Given the description of an element on the screen output the (x, y) to click on. 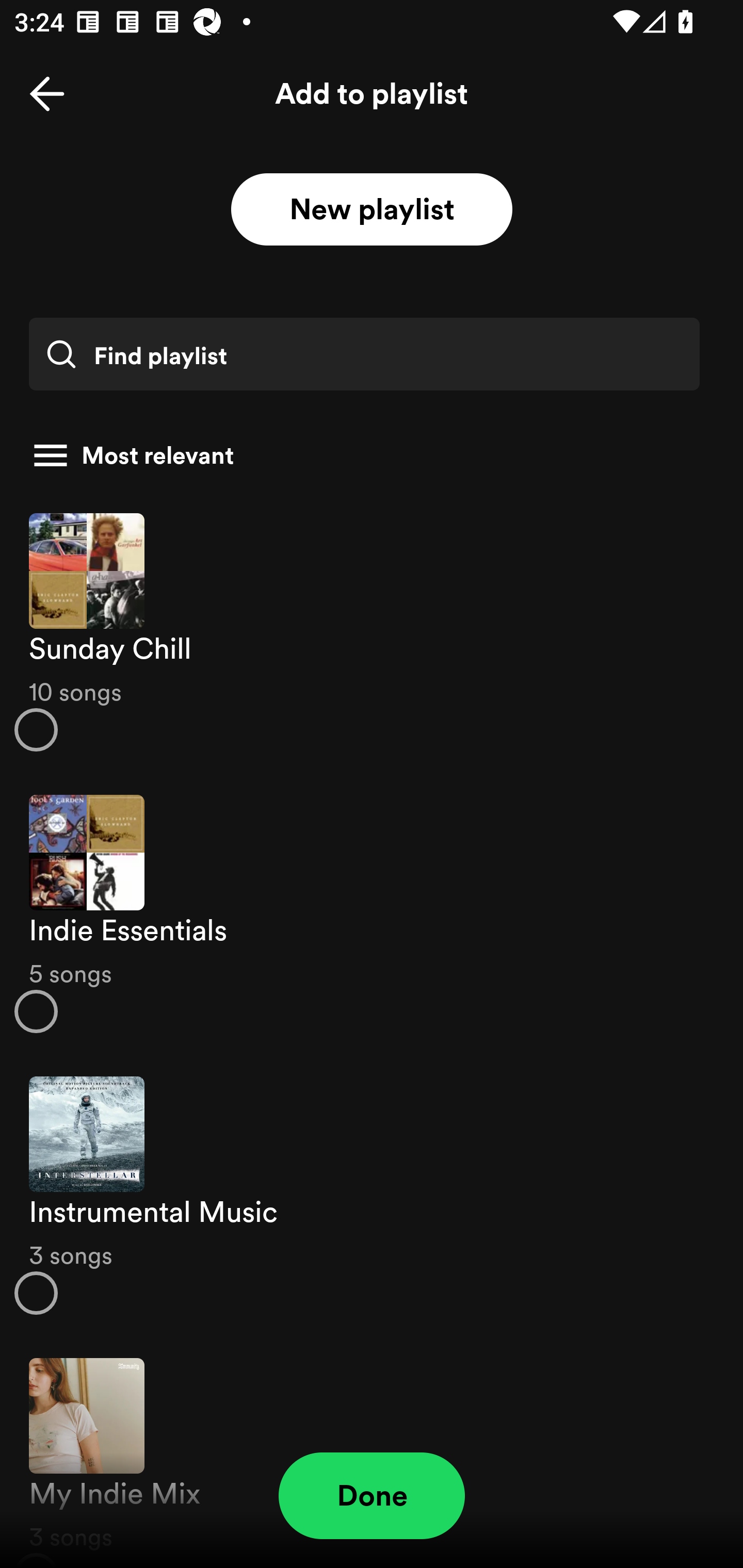
Back (46, 93)
New playlist (371, 210)
Find playlist (363, 354)
Most relevant (363, 455)
Sunday Chill 10 songs (371, 631)
Indie Essentials 5 songs (371, 914)
Instrumental Music 3 songs (371, 1195)
My Indie Mix 3 songs (371, 1451)
Done (371, 1495)
